Given the description of an element on the screen output the (x, y) to click on. 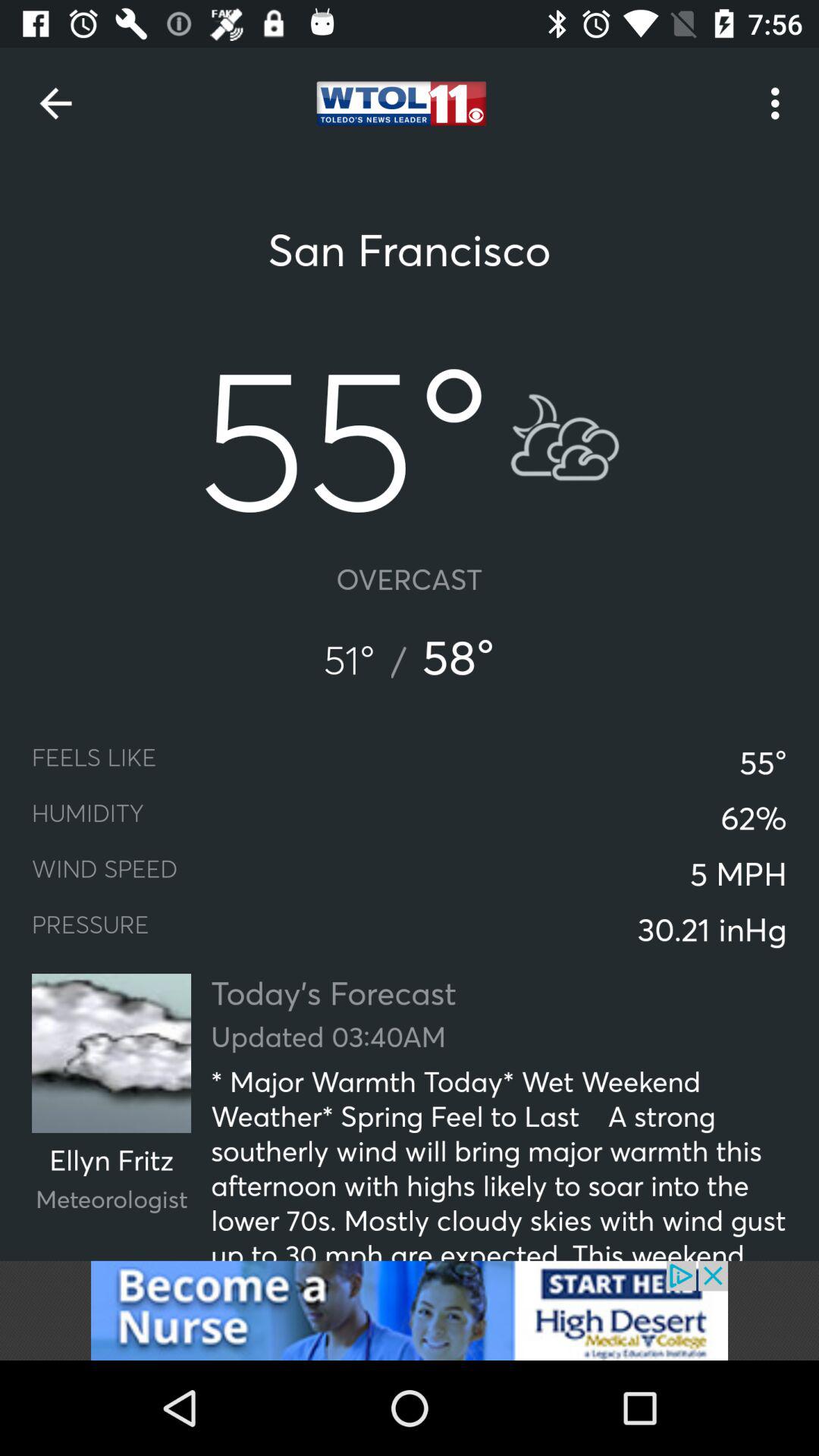
select advertisement (409, 1310)
